Given the description of an element on the screen output the (x, y) to click on. 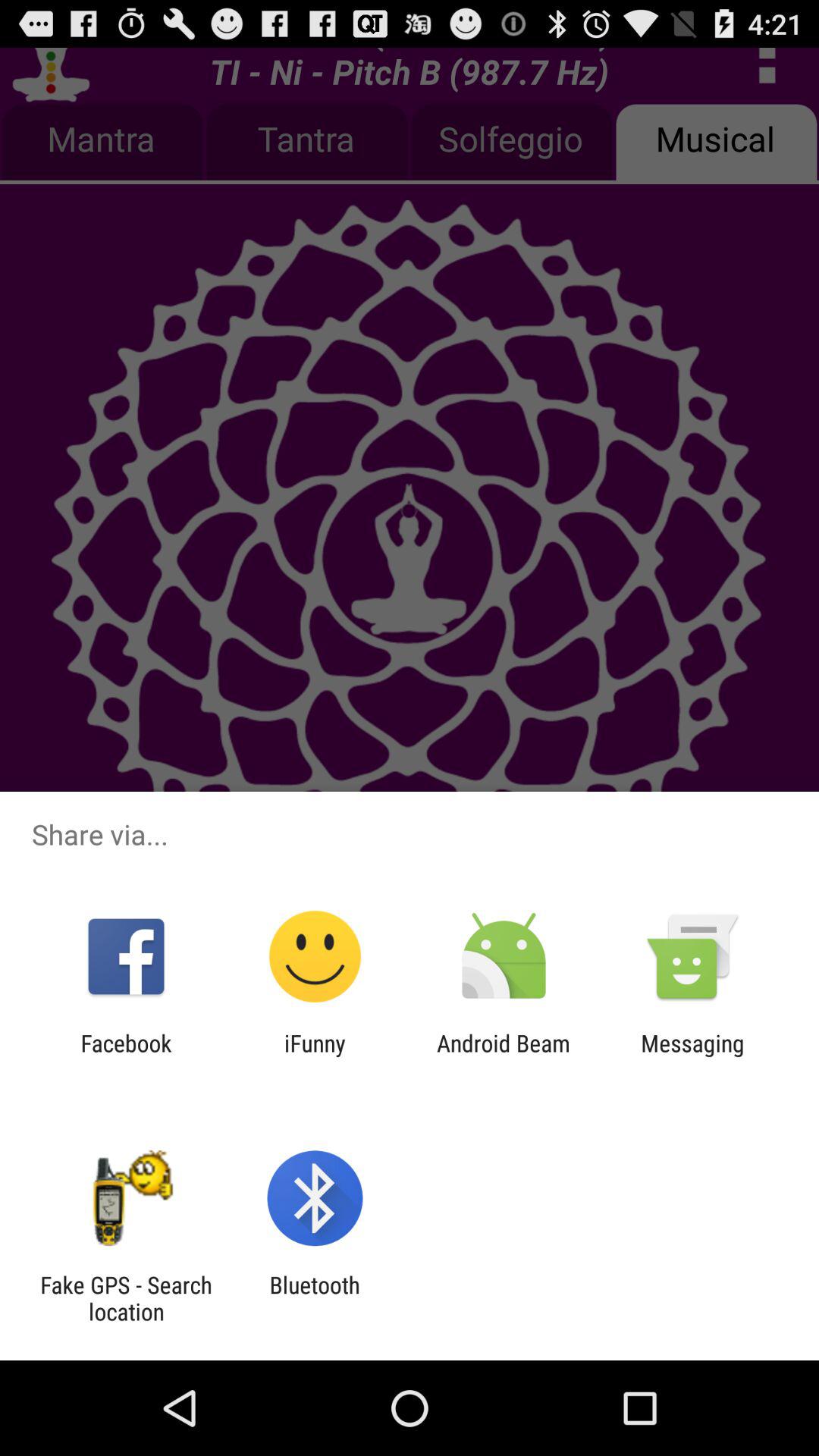
flip until the fake gps search (125, 1298)
